Given the description of an element on the screen output the (x, y) to click on. 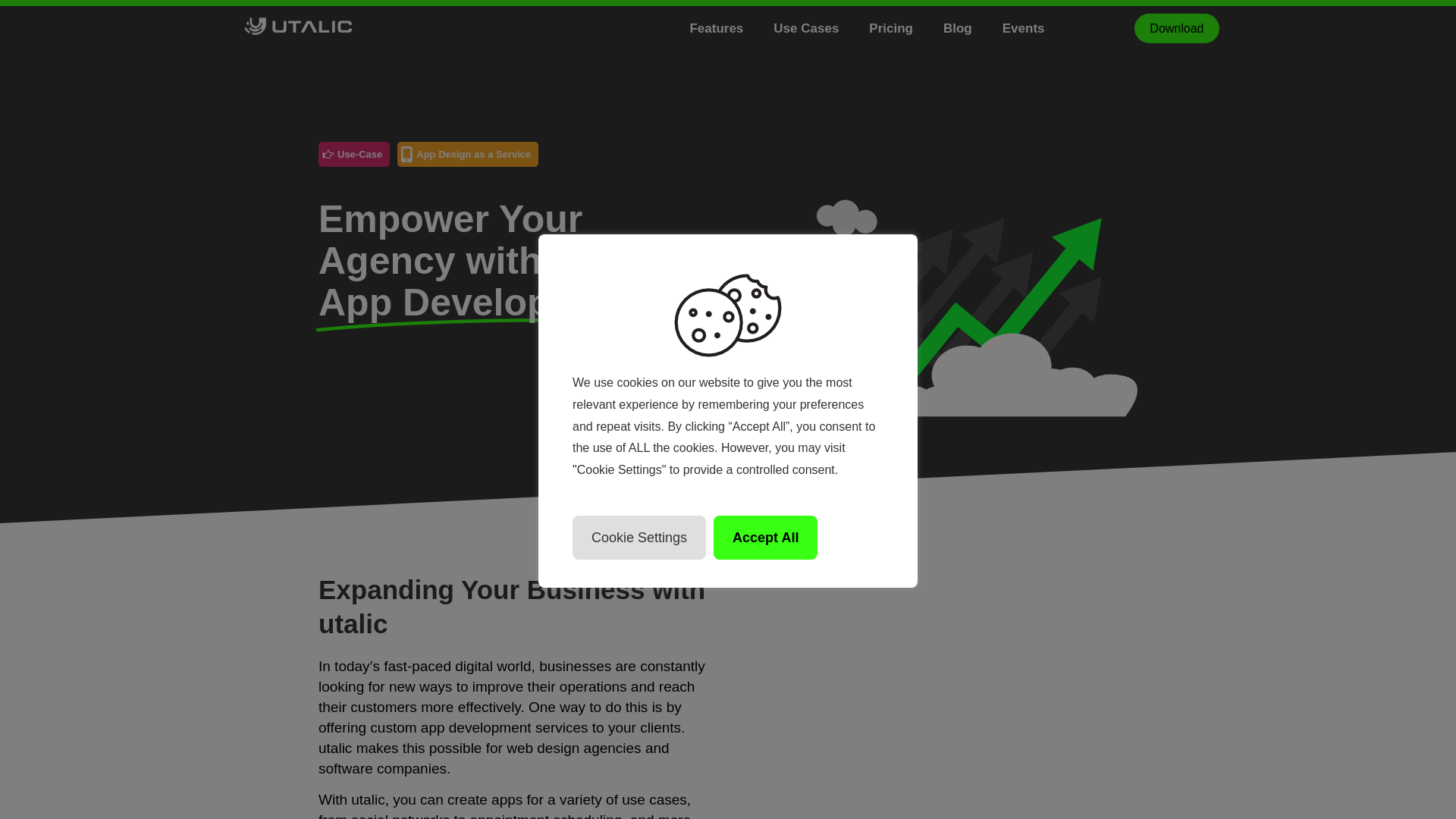
Events (1039, 27)
Pricing (906, 27)
Blog (973, 27)
Use Cases (821, 27)
Features (730, 27)
Download (1176, 28)
